Given the description of an element on the screen output the (x, y) to click on. 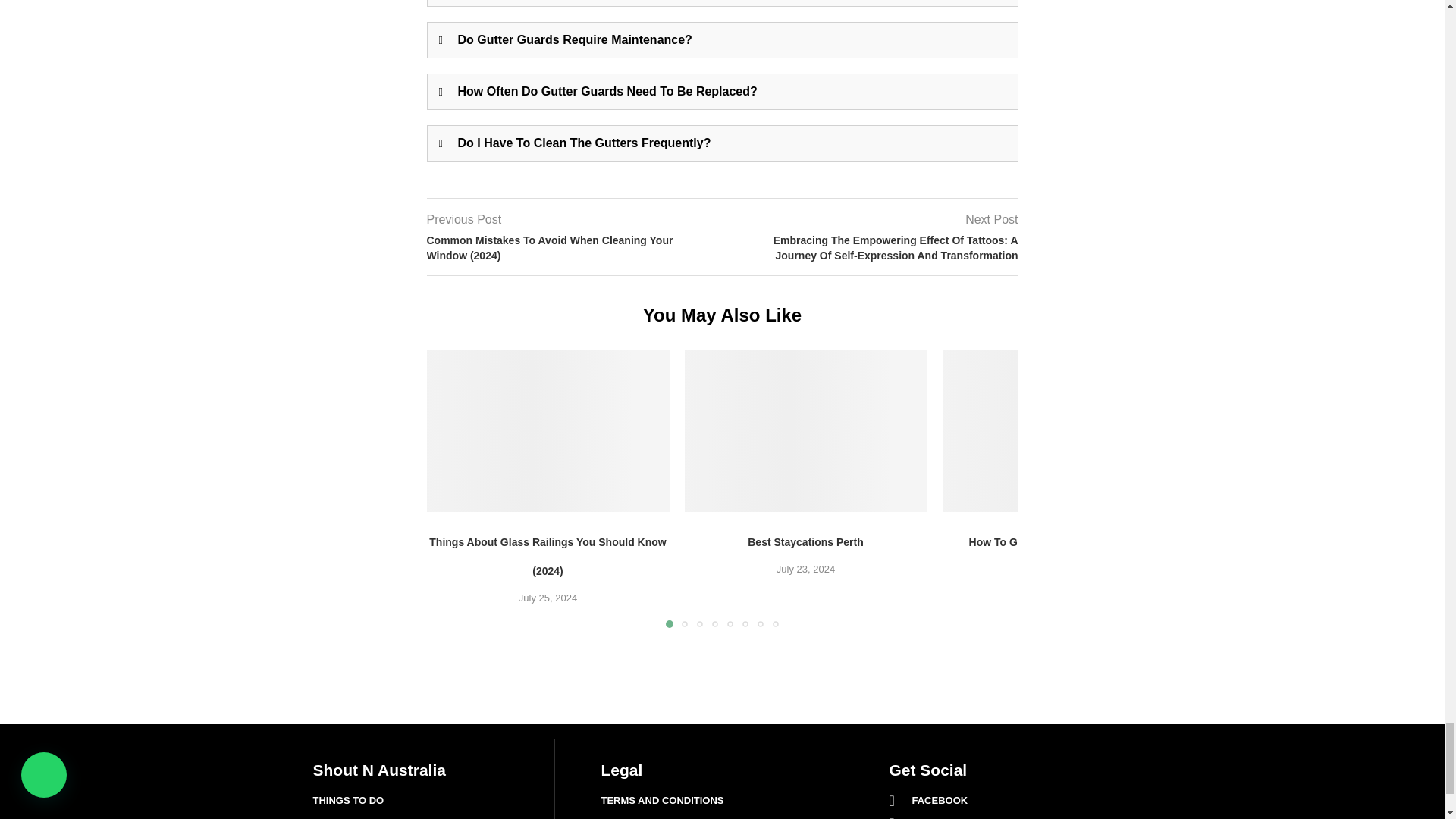
How To Get Rid Of Wet Carpet Smell? (1063, 430)
Best Staycations Perth (805, 430)
